Given the description of an element on the screen output the (x, y) to click on. 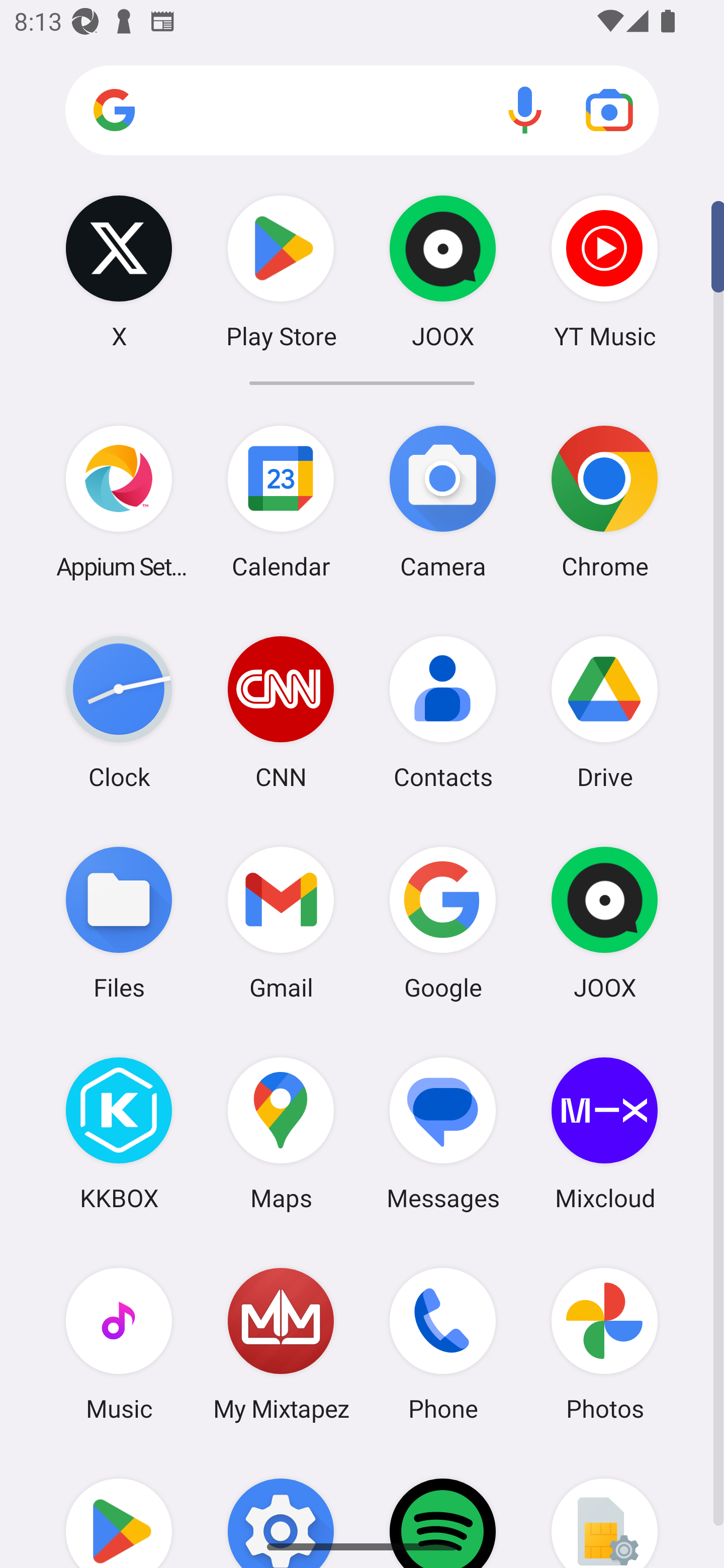
Voice search (524, 109)
Google Lens (608, 109)
X (118, 270)
Play Store (280, 270)
JOOX (443, 270)
YT Music (604, 270)
Appium Settings (118, 501)
Calendar (280, 501)
Camera (443, 501)
Chrome (604, 501)
Clock (118, 711)
CNN (280, 711)
Contacts (443, 711)
Drive (604, 711)
Files (118, 922)
Gmail (280, 922)
Google (443, 922)
JOOX (604, 922)
KKBOX (118, 1133)
Maps (280, 1133)
Messages (443, 1133)
Mixcloud (604, 1133)
Music (118, 1343)
My Mixtapez (280, 1343)
Phone (443, 1343)
Photos (604, 1343)
